Given the description of an element on the screen output the (x, y) to click on. 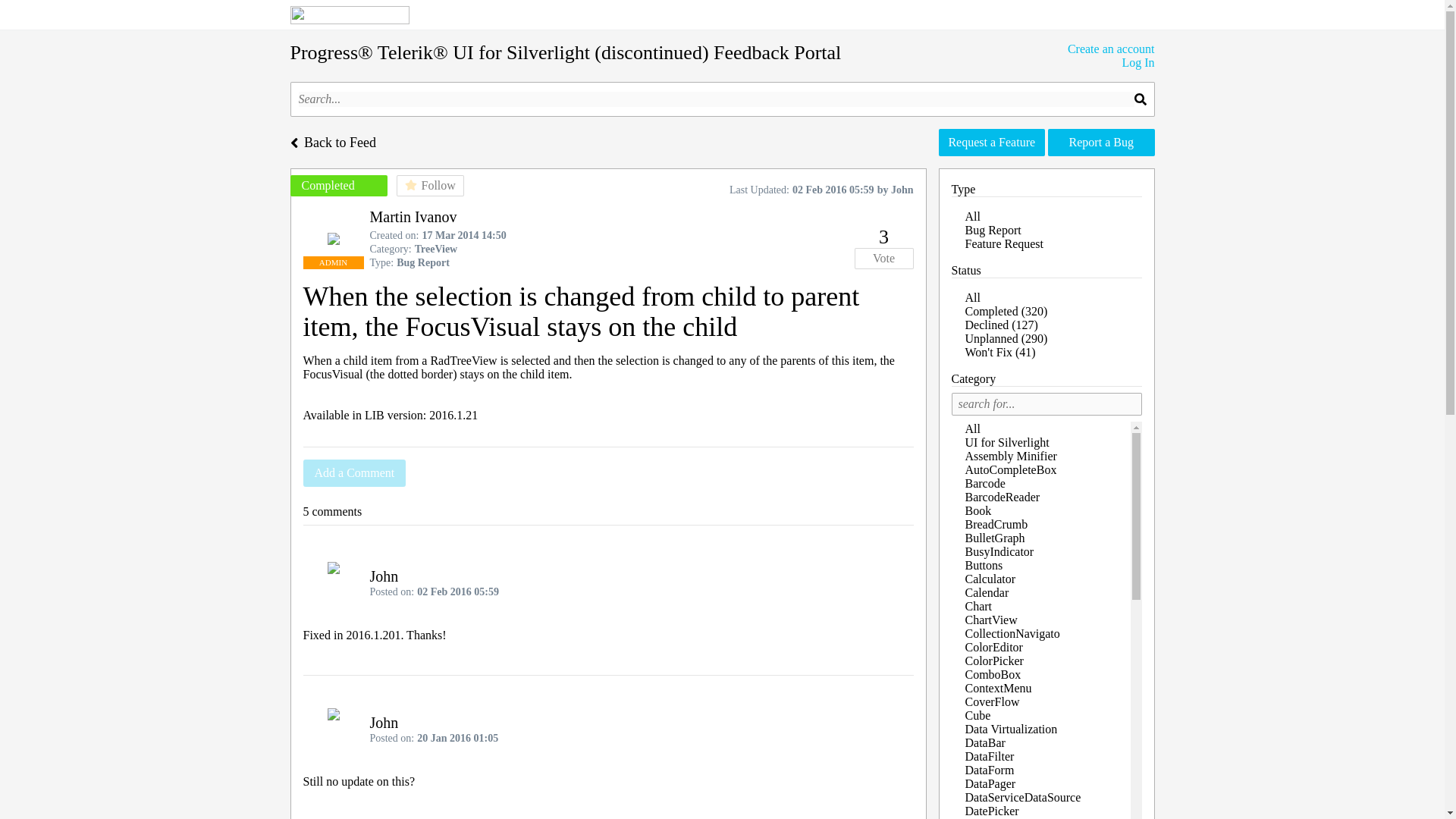
All (971, 428)
Back to Feed (332, 141)
AutoCompleteBox (1010, 469)
BreadCrumb (995, 524)
Log In (1110, 62)
Request a Feature (992, 142)
Follow (429, 185)
Calendar (986, 592)
Create an account (1110, 49)
All (971, 216)
Assembly Minifier (1010, 456)
Bug Report (991, 229)
Chart (977, 606)
BusyIndicator (998, 551)
Feature Request (1003, 243)
